Given the description of an element on the screen output the (x, y) to click on. 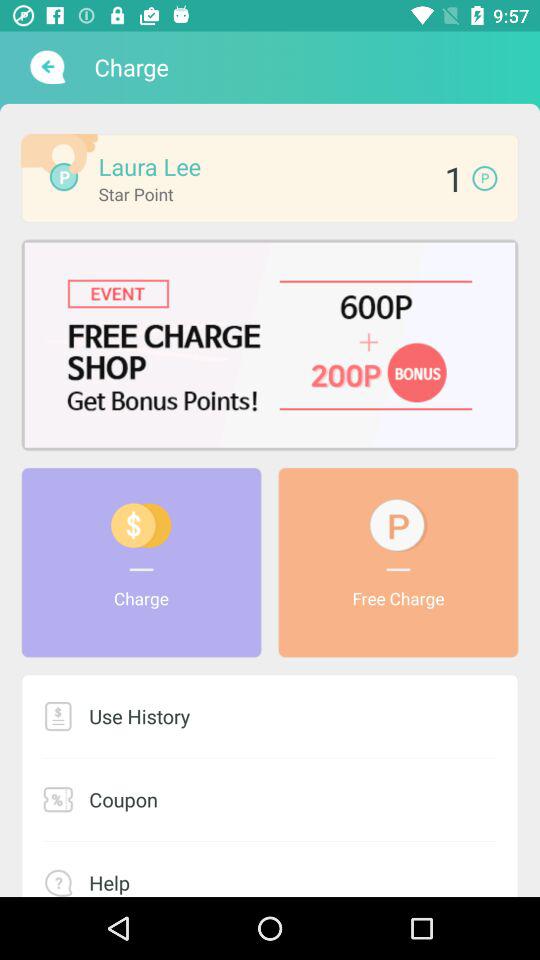
go to page (269, 344)
